Given the description of an element on the screen output the (x, y) to click on. 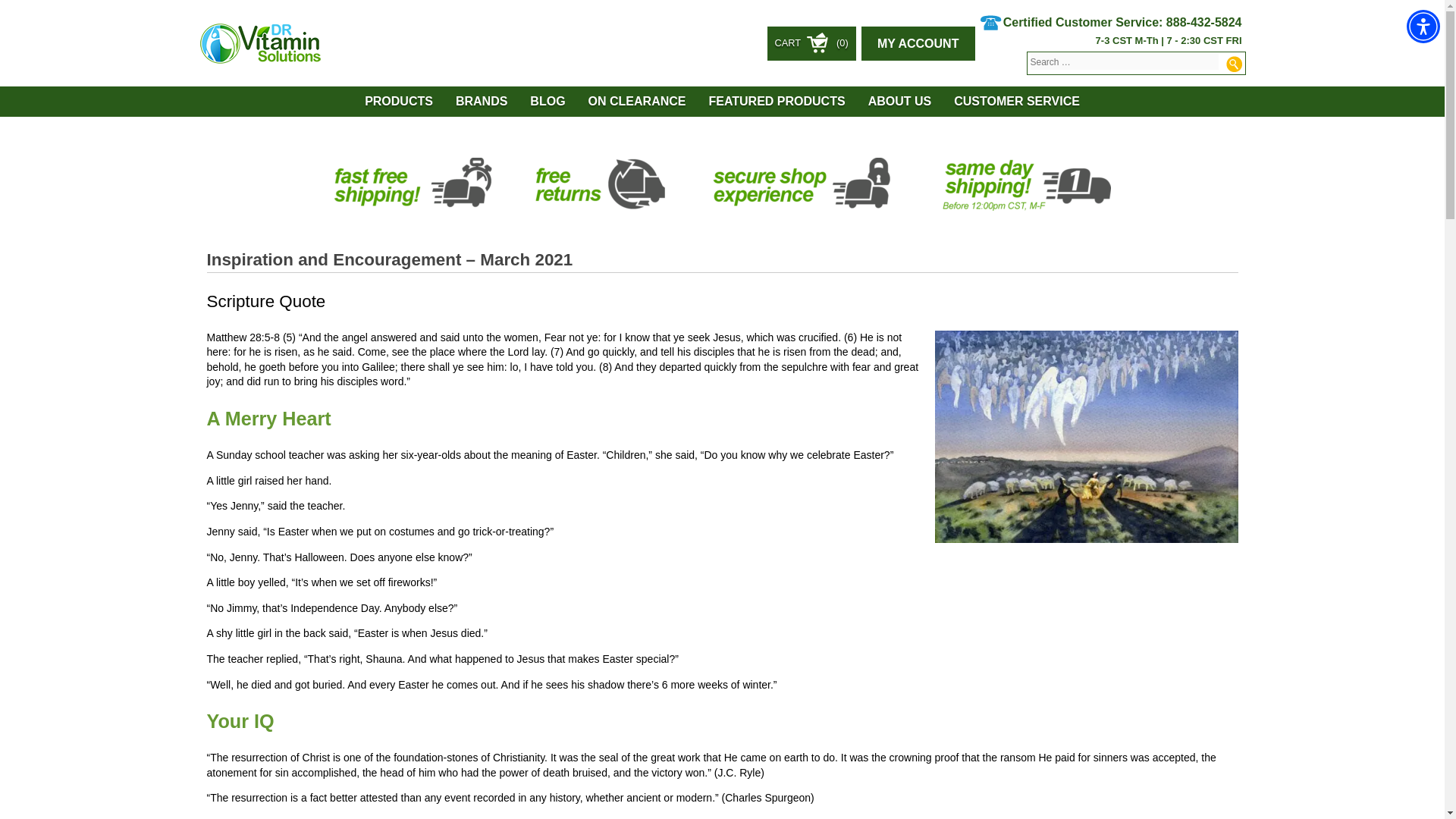
Accessibility Menu (1422, 26)
MY ACCOUNT (918, 42)
Certified Customer Service: 888-432-5824 (1111, 20)
View cart (811, 42)
PRODUCTS (398, 101)
